Given the description of an element on the screen output the (x, y) to click on. 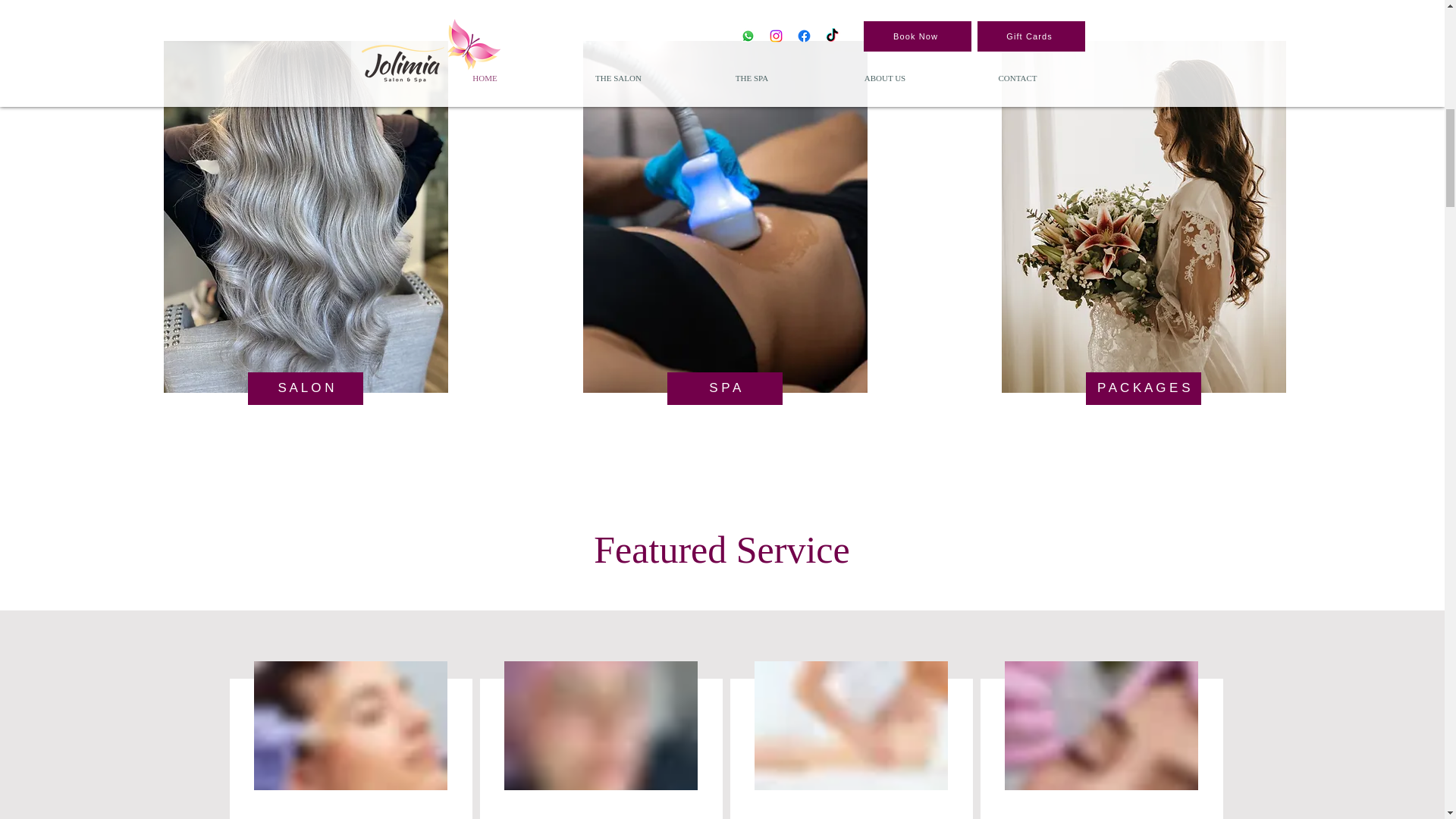
S P A (724, 388)
P A C K A G E S (1143, 388)
S A L O N (304, 388)
